Given the description of an element on the screen output the (x, y) to click on. 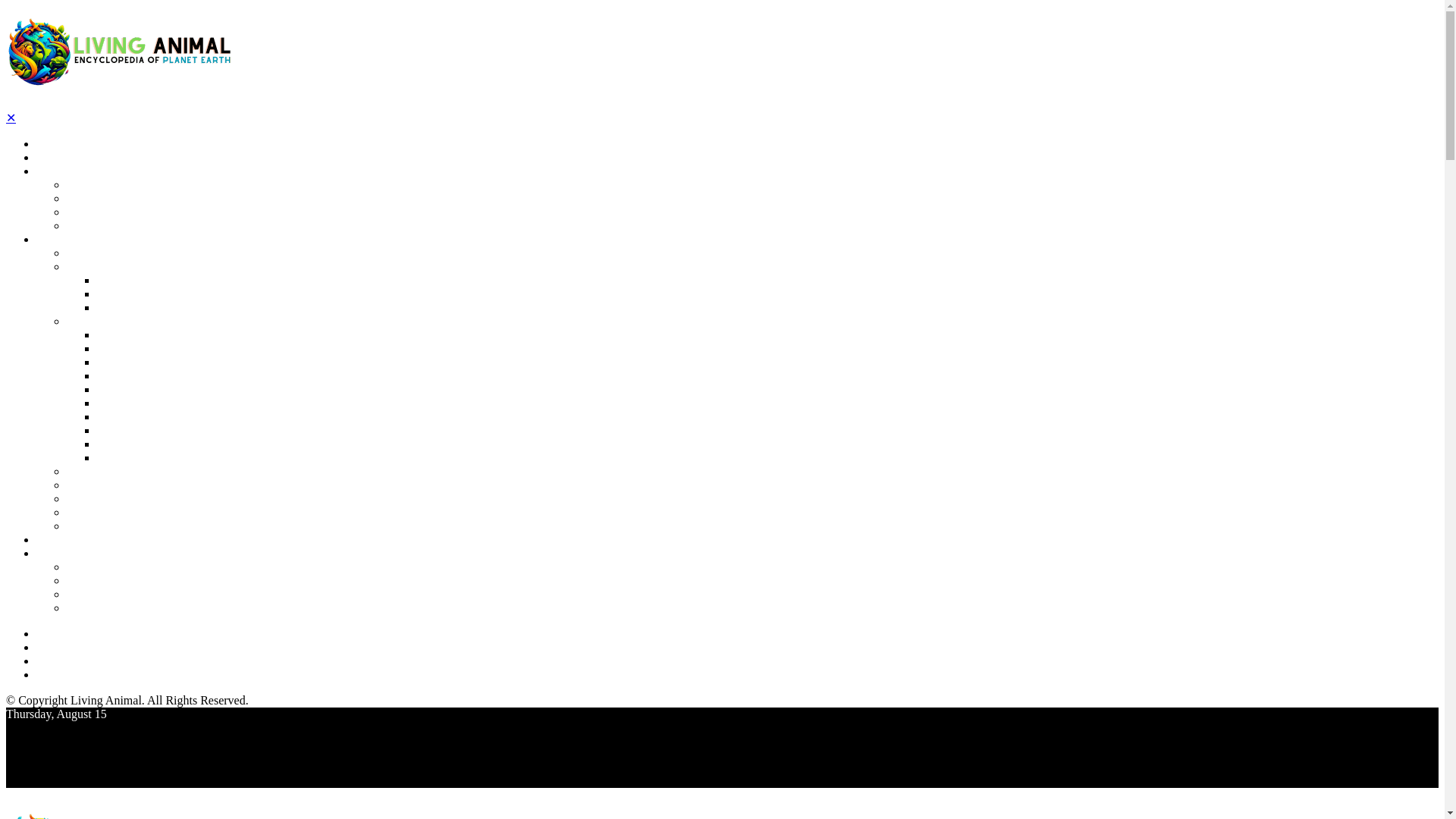
History (84, 198)
Domesticated (99, 499)
Terms And Conditions (121, 580)
Religious Animals (110, 512)
Arctic (112, 376)
Travel (81, 225)
About (51, 553)
Top-10 (52, 157)
By Location (95, 321)
Asia (107, 348)
